Given the description of an element on the screen output the (x, y) to click on. 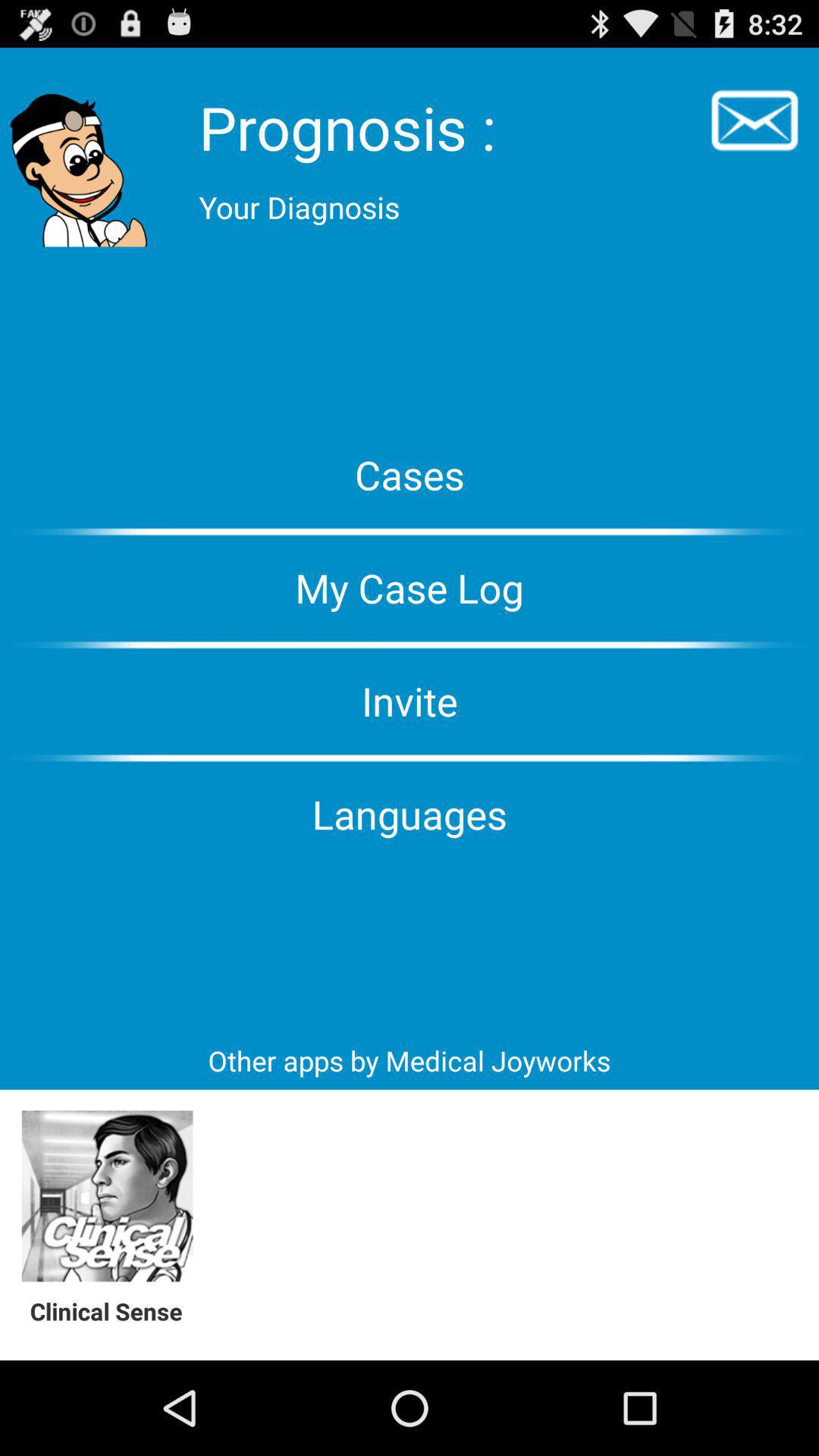
turn on icon above other apps by item (409, 813)
